Given the description of an element on the screen output the (x, y) to click on. 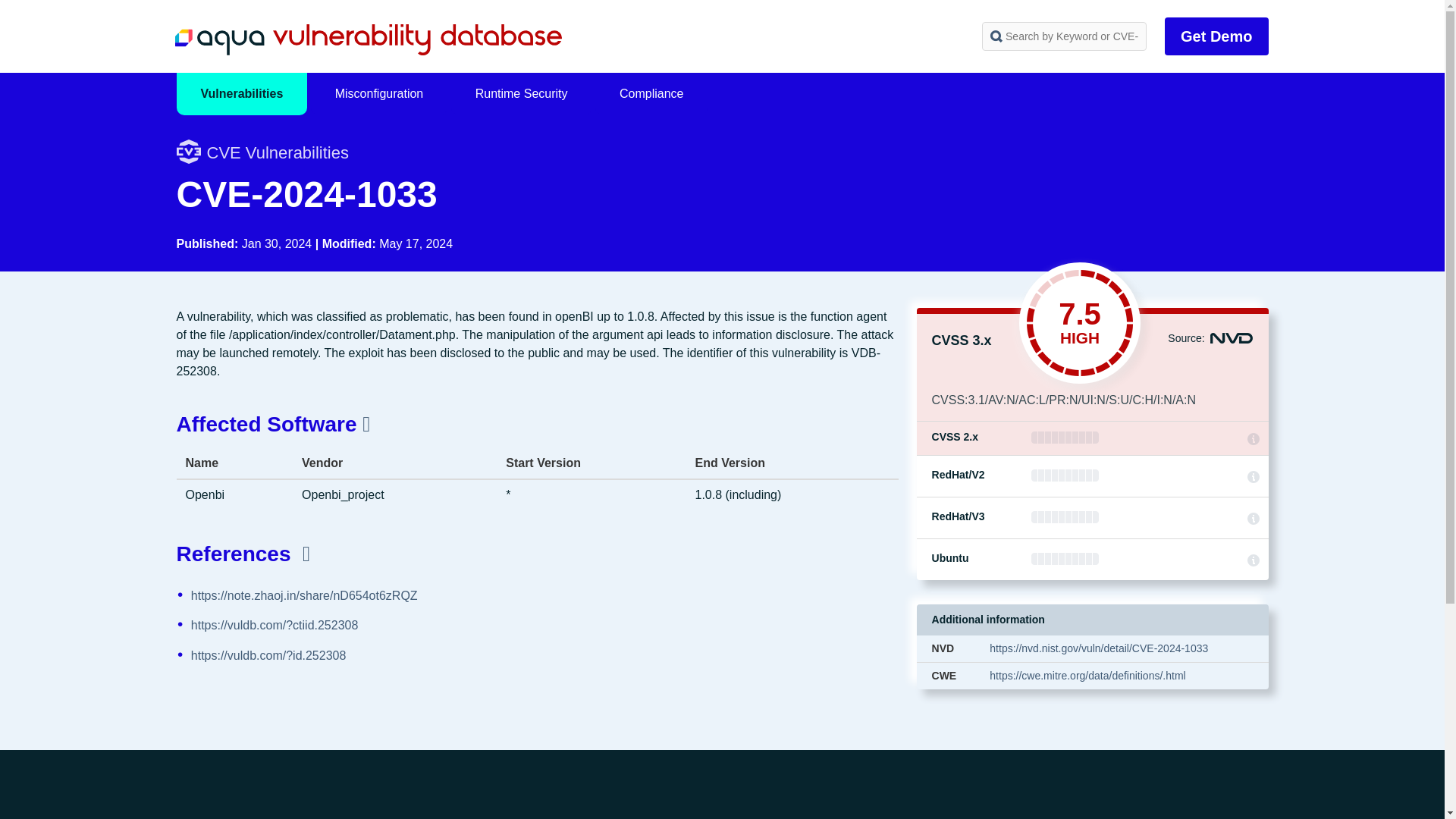
Get Demo (1216, 36)
Misconfiguration (379, 93)
Aqua Vulnerability Database (367, 39)
Runtime Security (521, 93)
Vulnerabilities (241, 93)
Aqua Vulnerability Database (367, 39)
Compliance (651, 93)
